Given the description of an element on the screen output the (x, y) to click on. 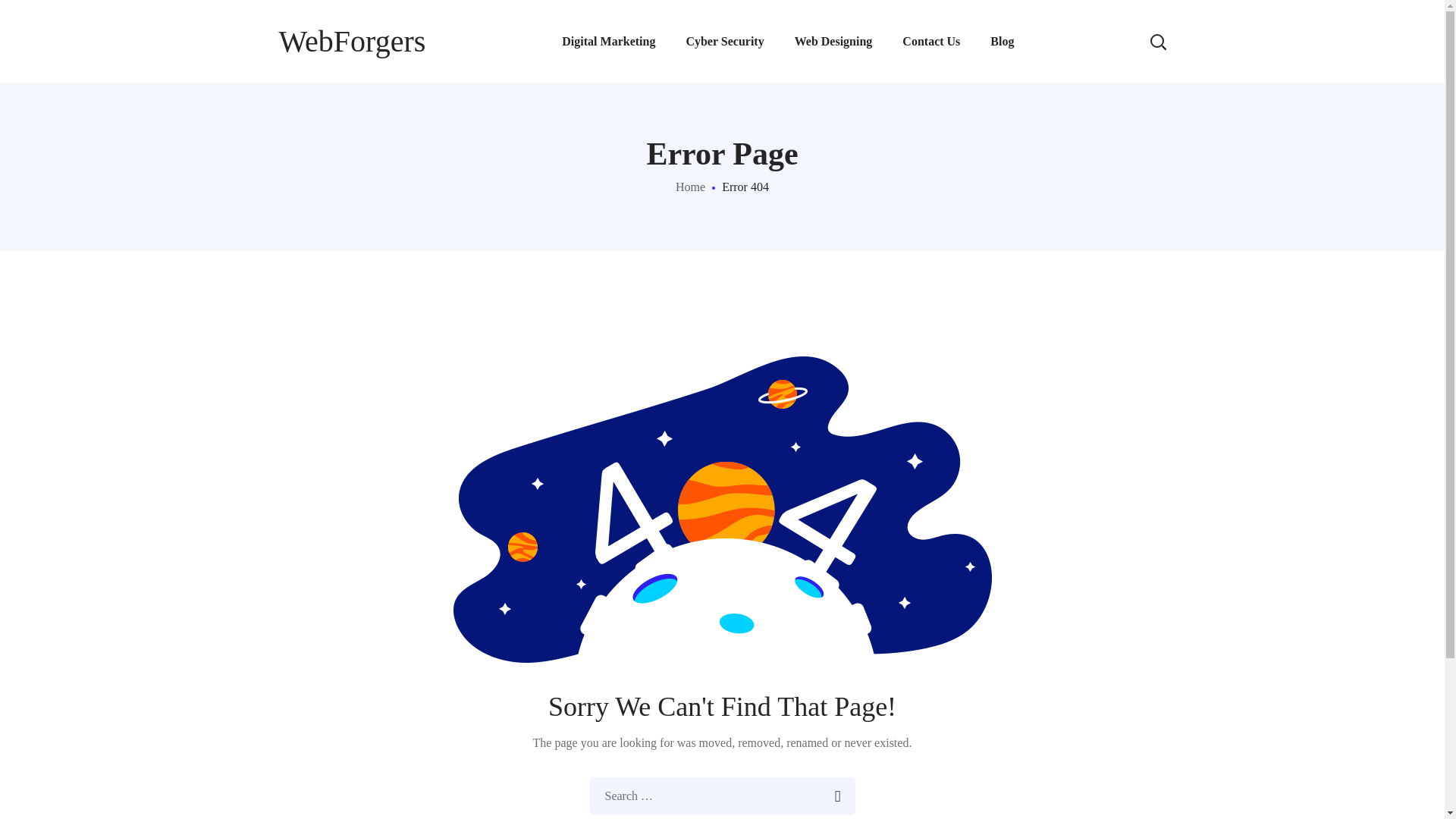
Cyber Security (723, 41)
Digital Marketing (608, 41)
Contact Us (930, 41)
WebForgers (352, 41)
Home (689, 186)
Search (836, 795)
Search (1110, 30)
Web Designing (833, 41)
Search (836, 795)
Search (1110, 113)
Search (836, 795)
